Given the description of an element on the screen output the (x, y) to click on. 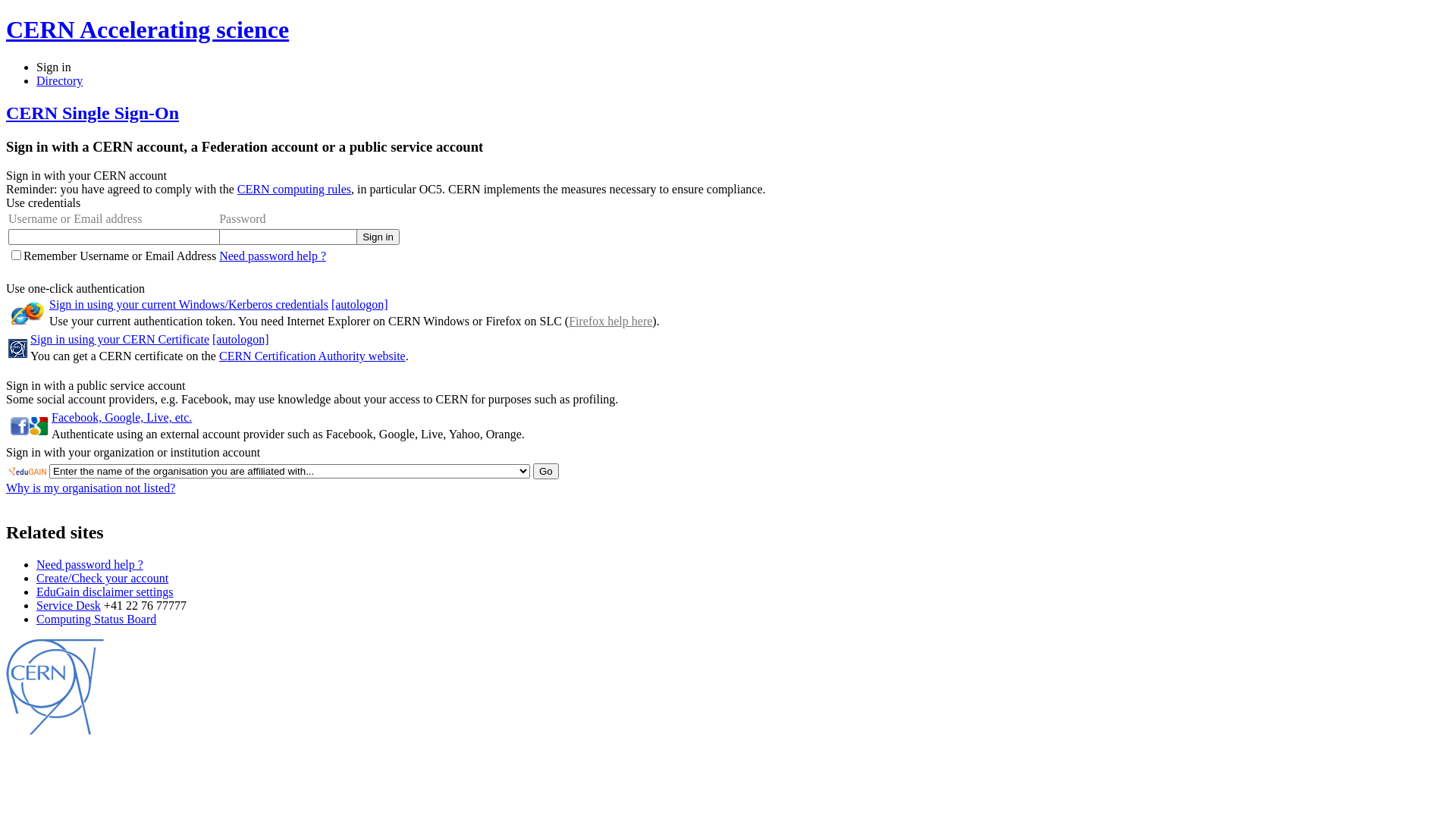
CERN computing rules Element type: text (294, 188)
Go Element type: text (545, 471)
Service Desk Element type: text (68, 605)
[autologon] Element type: text (359, 304)
[autologon] Element type: text (240, 338)
Why is my organisation not listed? Element type: text (90, 487)
CERN Certification Authority website Element type: text (312, 355)
Facebook, Google, Live, etc. Element type: text (121, 417)
CERN Element type: hover (54, 730)
Sign in Element type: text (53, 66)
CERN Accelerating science Element type: text (147, 29)
Need password help ? Element type: text (272, 255)
Enter your Username or Email Address Element type: hover (115, 236)
EduGain disclaimer settings Element type: text (104, 591)
Sign in using your current Windows/Kerberos credentials Element type: text (188, 304)
[show debug information] Element type: text (58, 500)
CERN Single Sign-On Element type: text (92, 112)
Create/Check your account Element type: text (102, 577)
Sign in Element type: text (377, 236)
Need password help ? Element type: text (89, 564)
Directory Element type: text (59, 80)
Computing Status Board Element type: text (96, 618)
Firefox help here Element type: text (610, 320)
Sign in using your CERN Certificate Element type: text (119, 338)
